Given the description of an element on the screen output the (x, y) to click on. 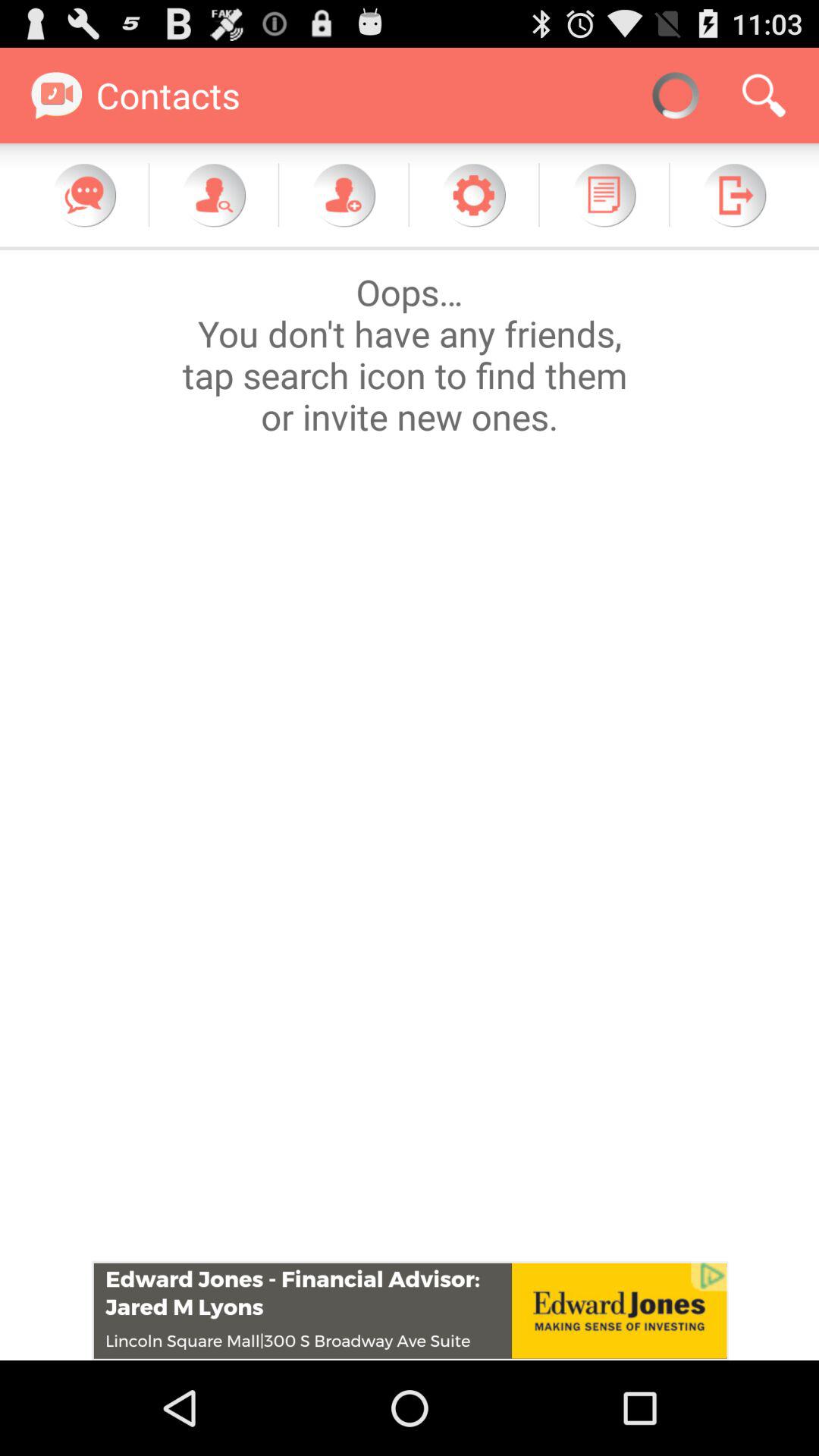
invite new friends (343, 194)
